Given the description of an element on the screen output the (x, y) to click on. 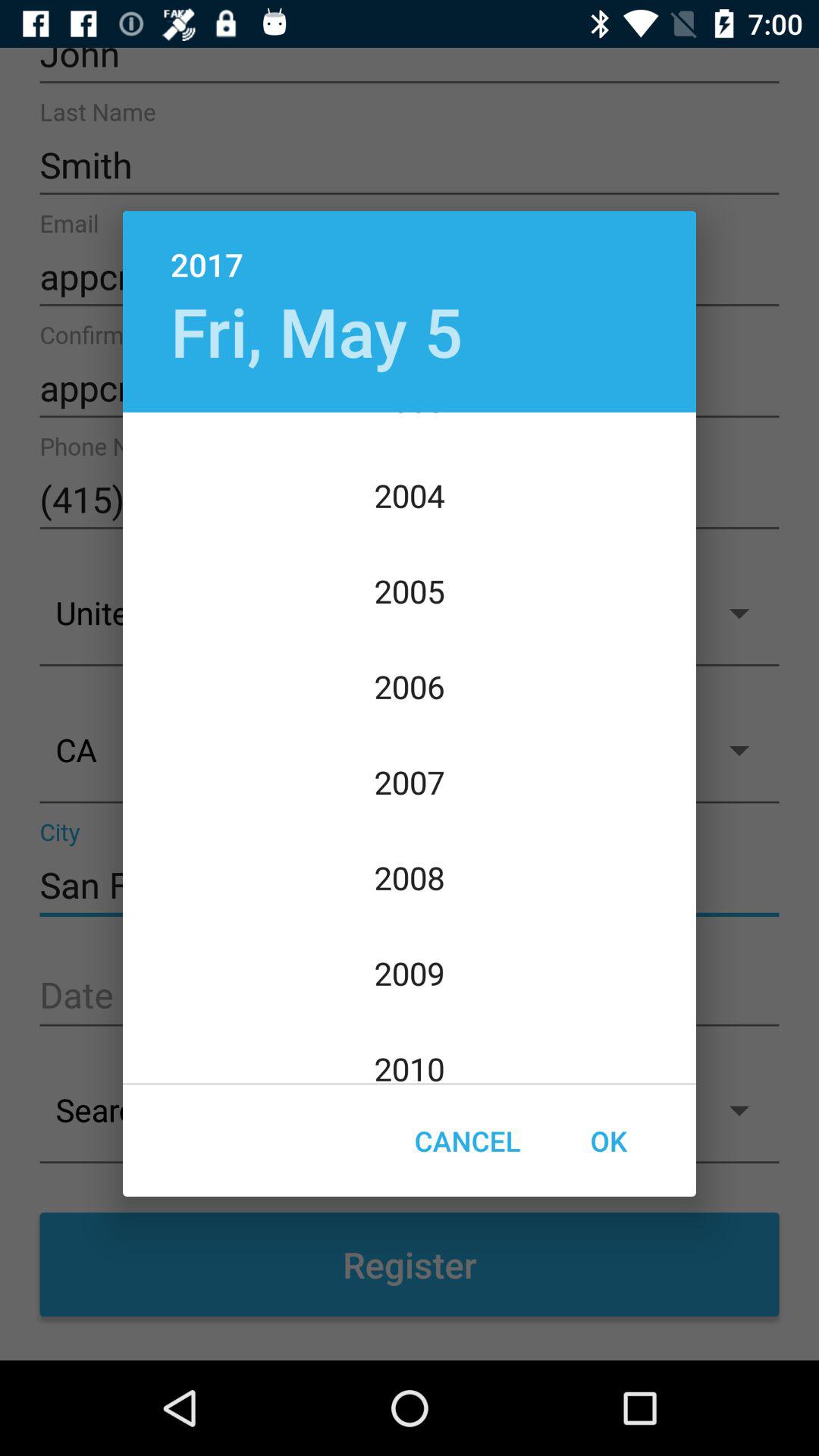
press the icon to the right of the cancel (608, 1140)
